Given the description of an element on the screen output the (x, y) to click on. 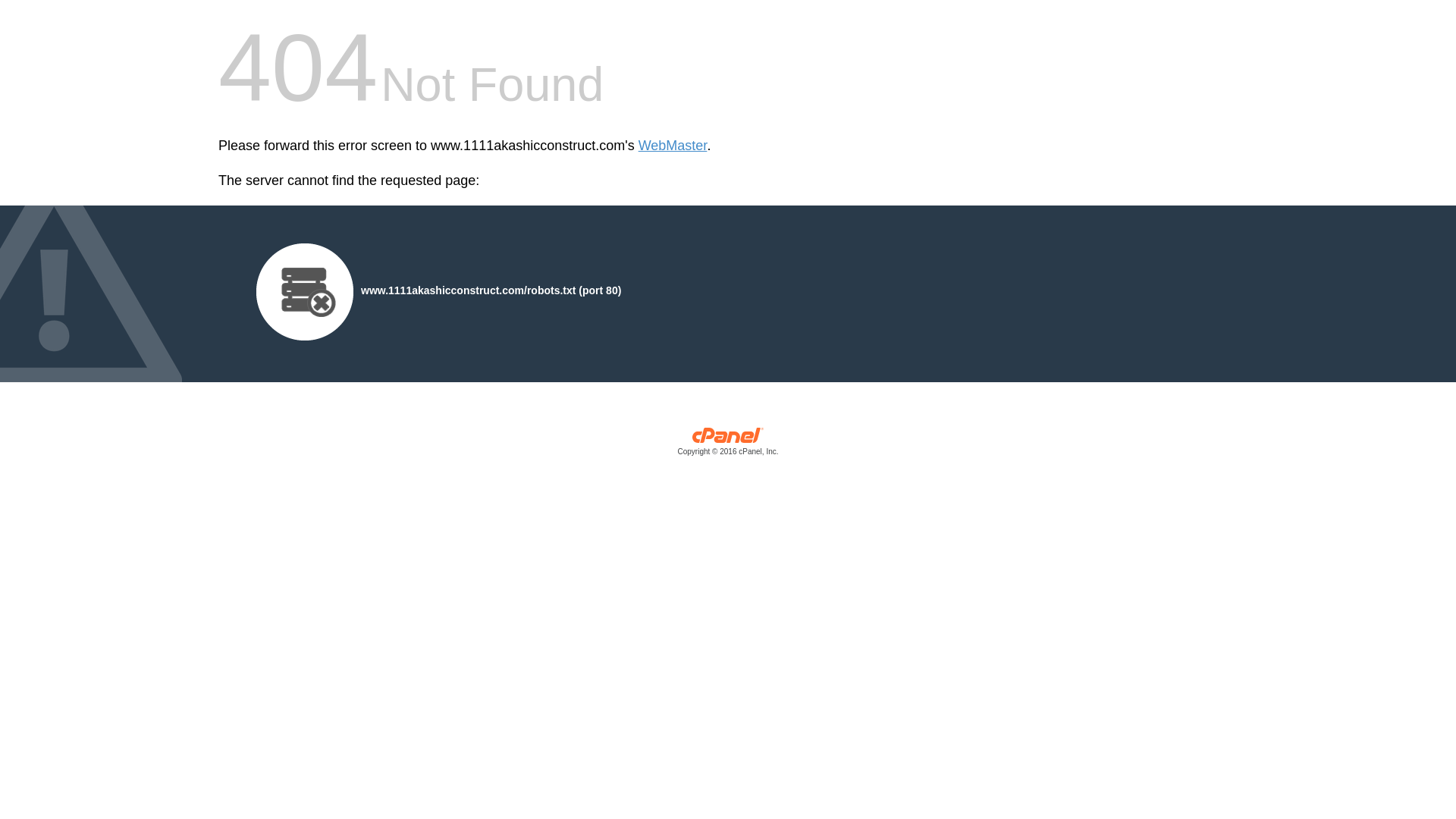
WebMaster Element type: text (672, 145)
